Given the description of an element on the screen output the (x, y) to click on. 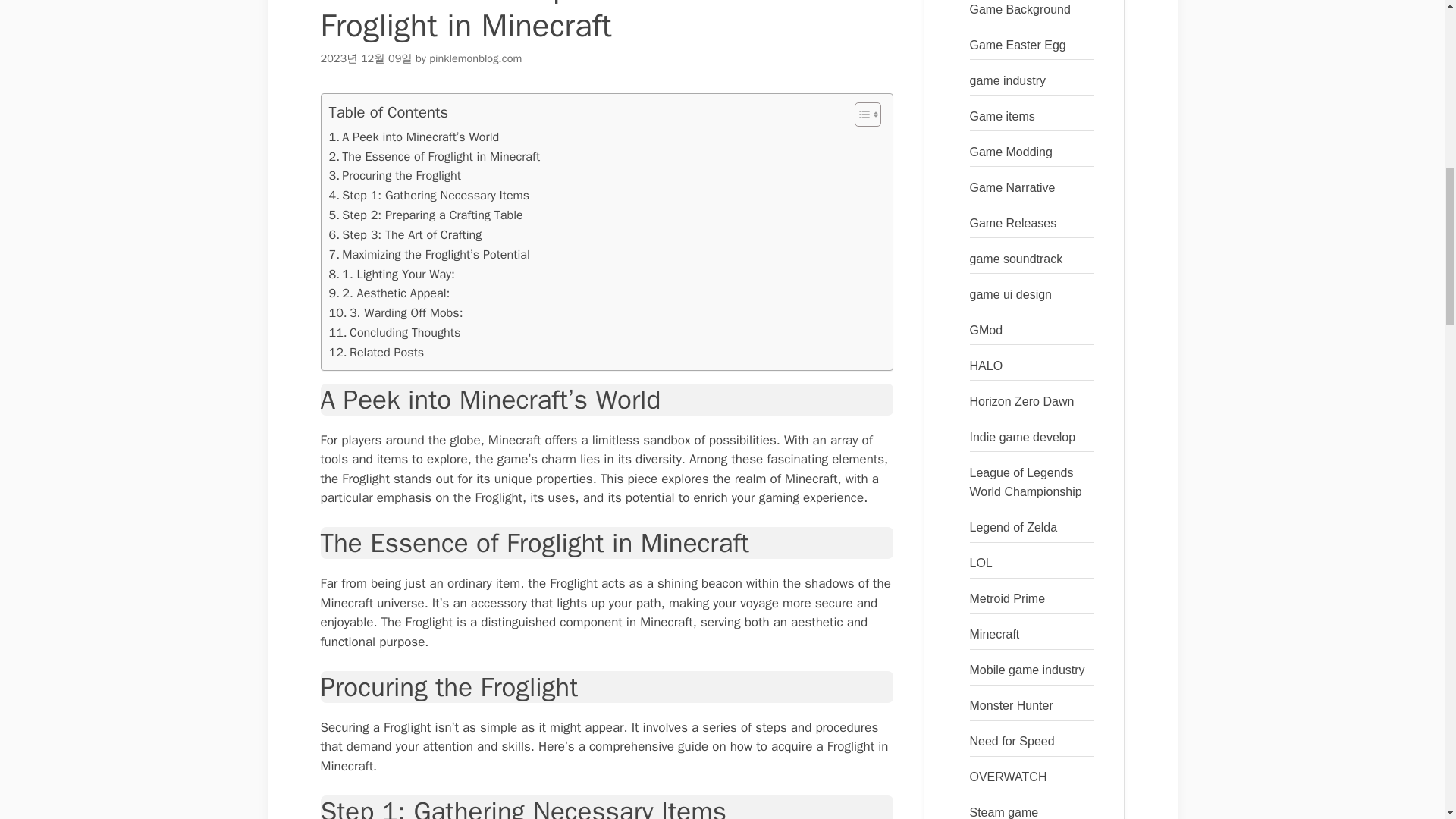
3. Warding Off Mobs: (396, 312)
3. Warding Off Mobs: (396, 312)
Related Posts (377, 352)
2. Aesthetic Appeal: (389, 293)
Concluding Thoughts (395, 332)
Step 3: The Art of Crafting (405, 234)
Procuring the Froglight (395, 175)
Concluding Thoughts (395, 332)
1. Lighting Your Way: (391, 274)
Step 1: Gathering Necessary Items (429, 195)
